Given the description of an element on the screen output the (x, y) to click on. 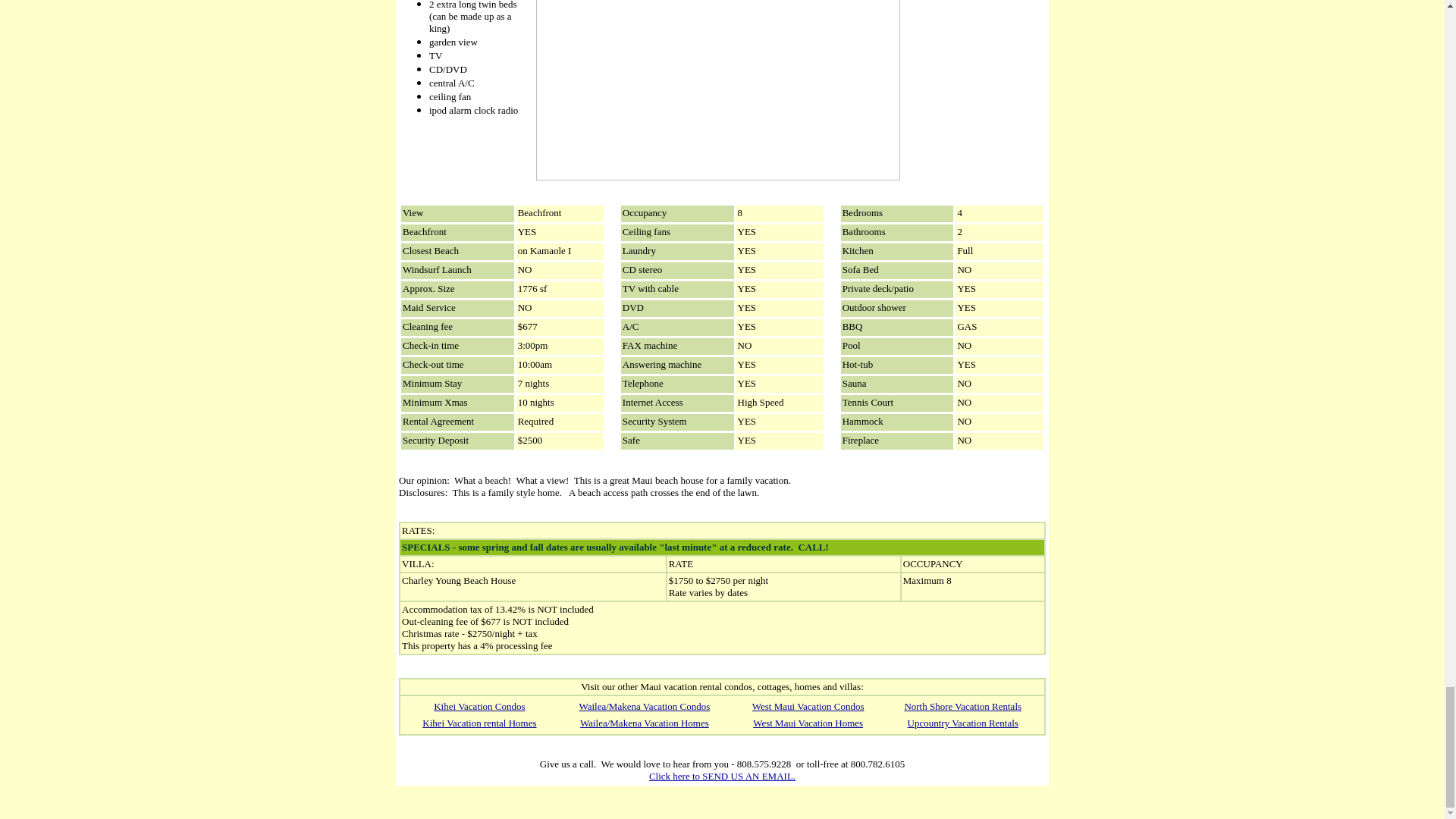
Kihei Vacation rental Homes (478, 722)
Click here to SEND US AN EMAIL. (721, 776)
Kihei Vacation Condos (478, 706)
West Maui Vacation Condos (808, 706)
Upcountry Vacation Rentals (962, 722)
North Shore Vacation Rentals (963, 706)
West Maui Vacation Homes (807, 722)
